Given the description of an element on the screen output the (x, y) to click on. 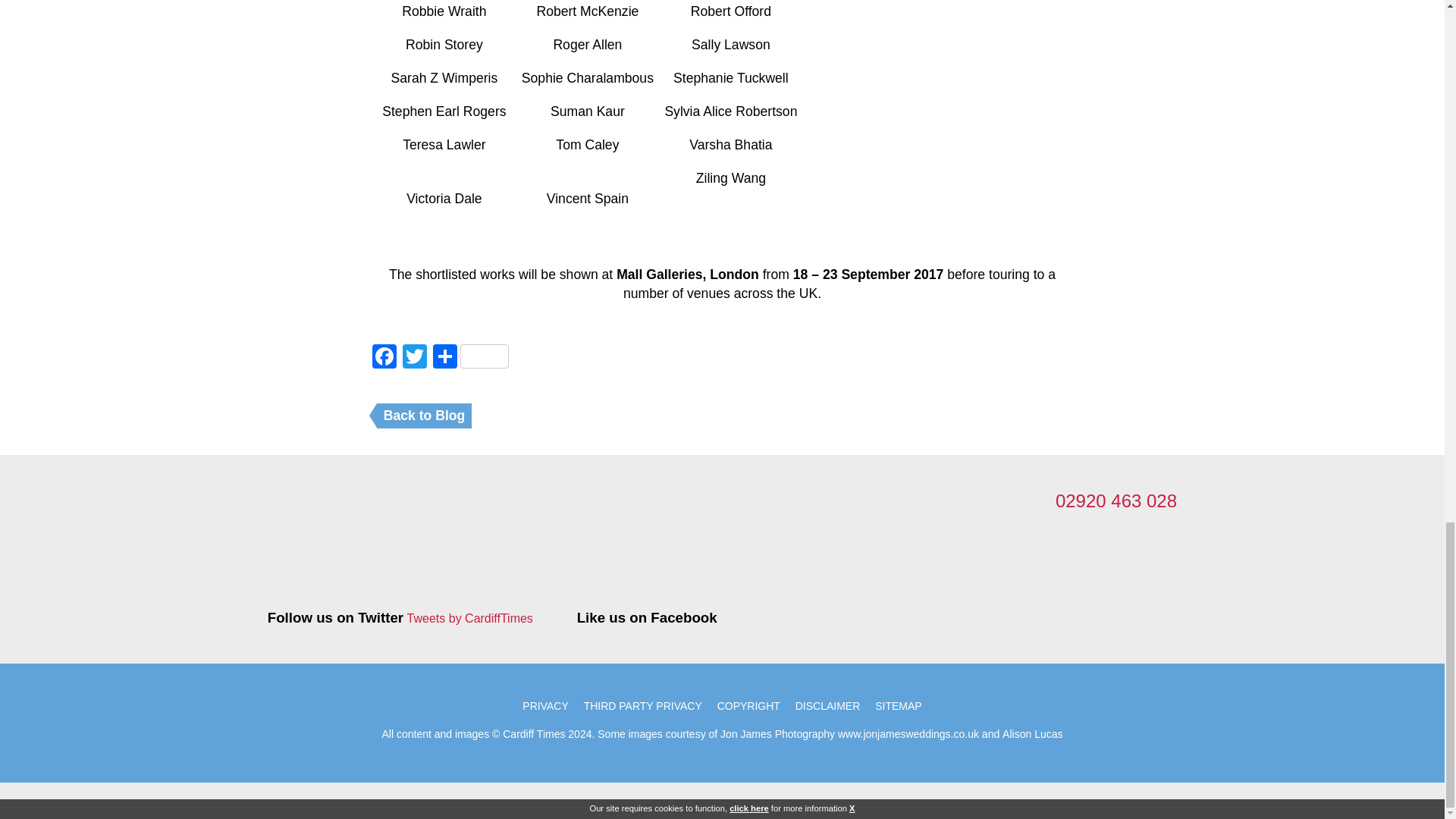
Facebook (383, 357)
THIRD PARTY PRIVACY (642, 705)
COPYRIGHT (748, 705)
02920 463 028 (1115, 500)
SITEMAP (898, 705)
Back to Blog (424, 415)
Tweets by CardiffTimes (469, 618)
Twitter (413, 357)
Facebook (383, 357)
Twitter (413, 357)
